Given the description of an element on the screen output the (x, y) to click on. 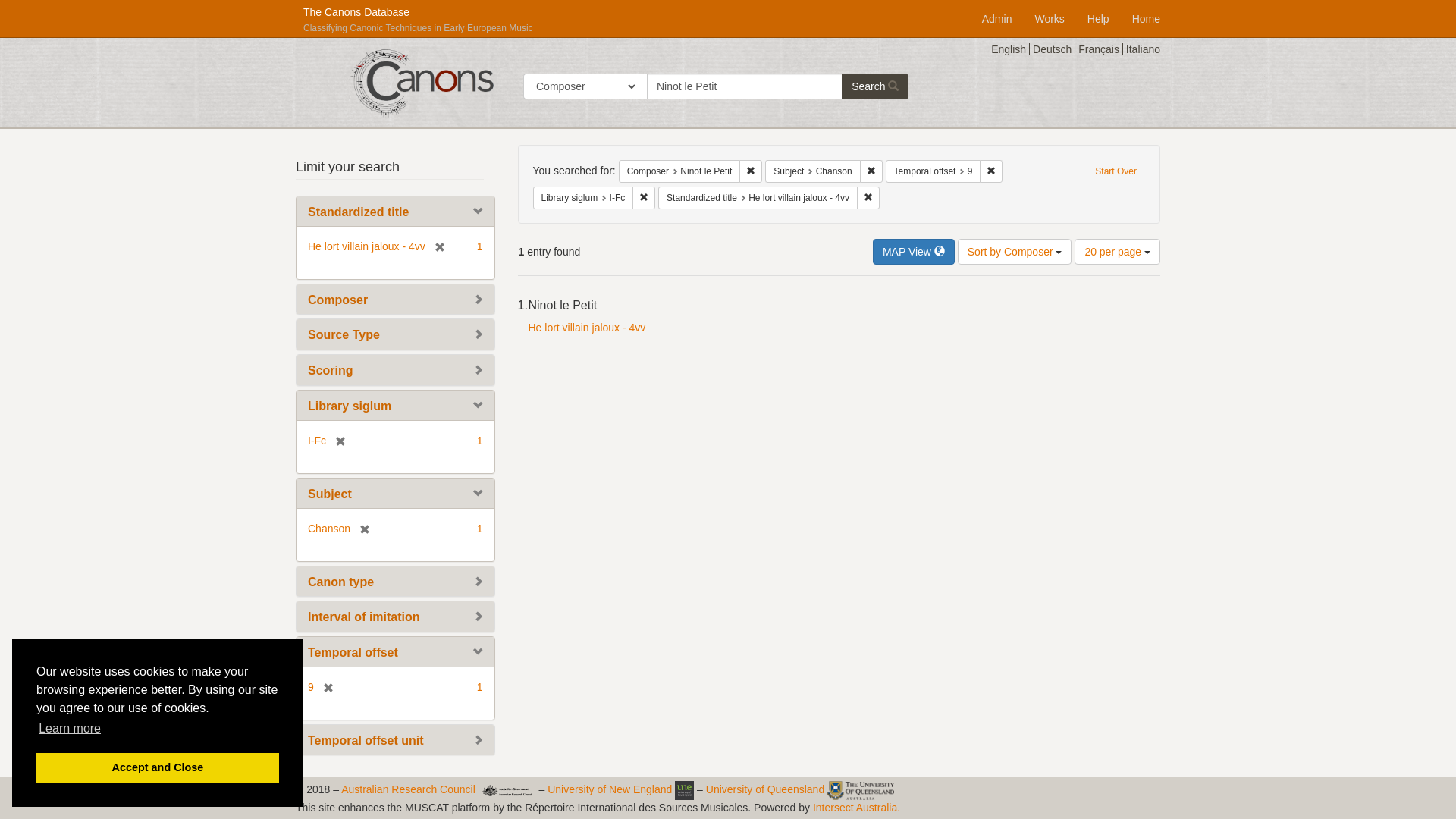
[remove] Element type: text (335, 440)
Works Element type: text (1048, 13)
University of New England Element type: text (609, 789)
Temporal offset unit Element type: text (365, 740)
Deutsch Element type: text (1053, 49)
Library siglum Element type: text (349, 405)
[remove] Element type: text (435, 246)
English Element type: text (1010, 49)
Interval of imitation Element type: text (363, 616)
Search Element type: text (874, 86)
Scoring Element type: text (330, 370)
Subject Element type: text (329, 493)
Intersect Australia. Element type: text (856, 807)
Remove constraint Temporal offset: 9 Element type: text (990, 171)
Canon type Element type: text (340, 581)
Australian Research Council Element type: text (408, 789)
Remove constraint Composer: Ninot le Petit Element type: text (750, 171)
Learn more Element type: text (69, 728)
20 per page Element type: text (1117, 251)
Temporal offset Element type: text (352, 652)
Remove constraint Library siglum: I-Fc Element type: text (643, 197)
Standardized title Element type: text (357, 211)
Home Element type: text (1145, 13)
Start Over Element type: text (1115, 171)
Source Type Element type: text (343, 334)
Help Element type: text (1098, 13)
[remove] Element type: text (323, 686)
Accept and Close Element type: text (157, 767)
He lort villain jaloux - 4vv Element type: text (586, 327)
University of Queensland Element type: text (765, 789)
Remove constraint Subject: Chanson Element type: text (870, 171)
Composer Element type: text (337, 299)
Admin Element type: text (996, 13)
Sort by Composer Element type: text (1014, 251)
[remove] Element type: text (360, 528)
MAP View Element type: text (913, 251)
Italiano Element type: text (1143, 49)
